Given the description of an element on the screen output the (x, y) to click on. 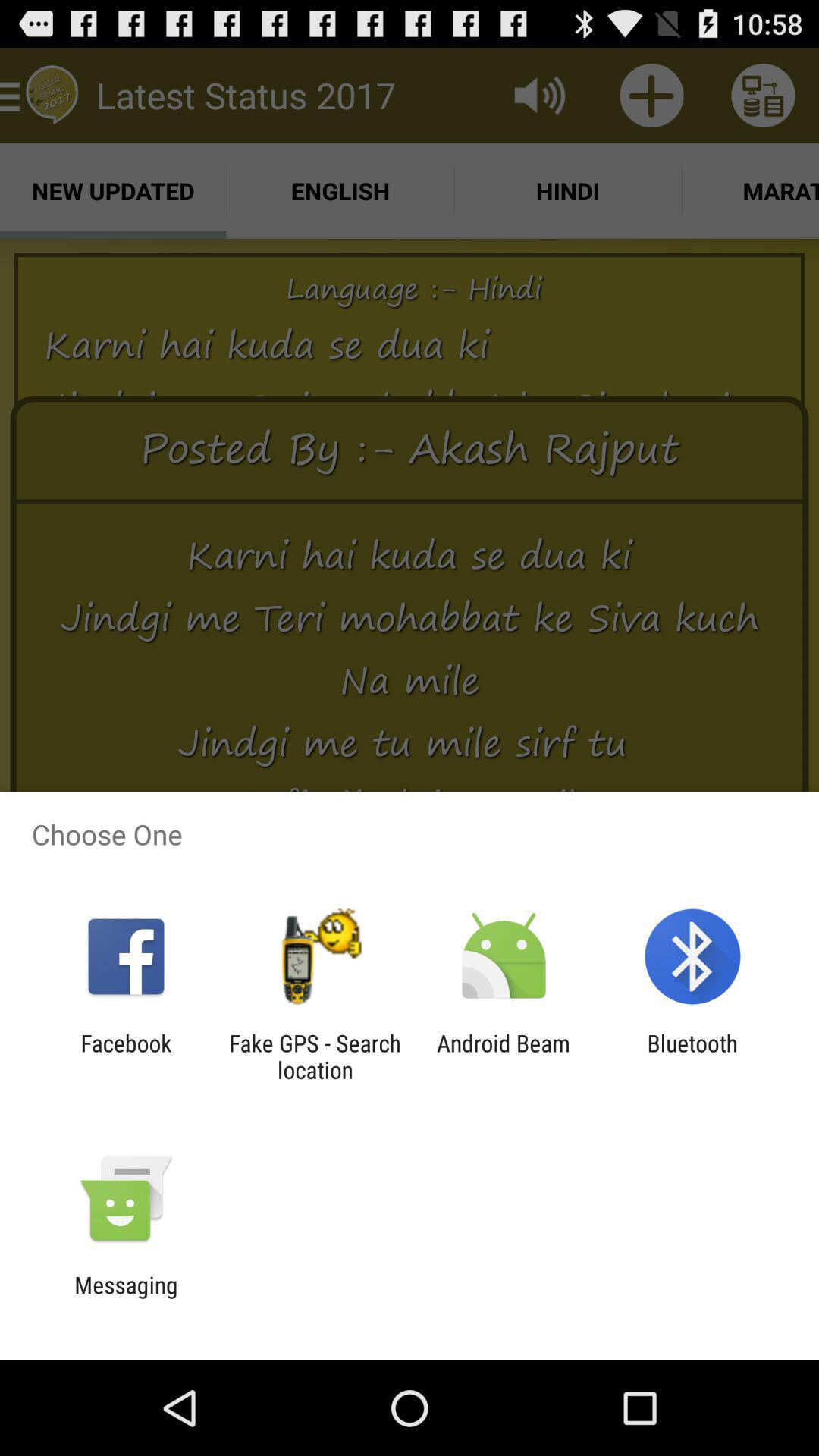
press facebook icon (125, 1056)
